Given the description of an element on the screen output the (x, y) to click on. 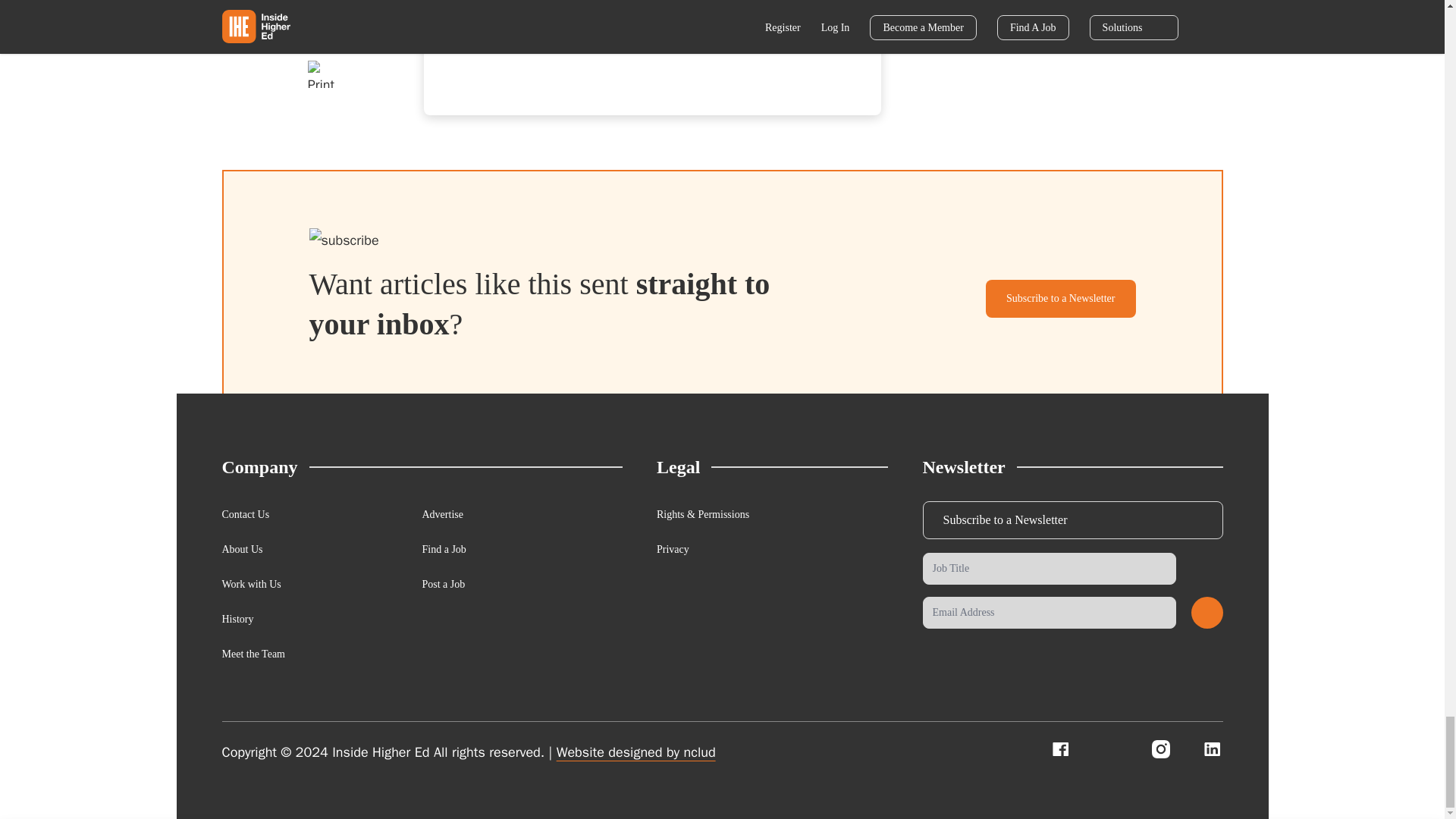
Submit (1207, 612)
